Given the description of an element on the screen output the (x, y) to click on. 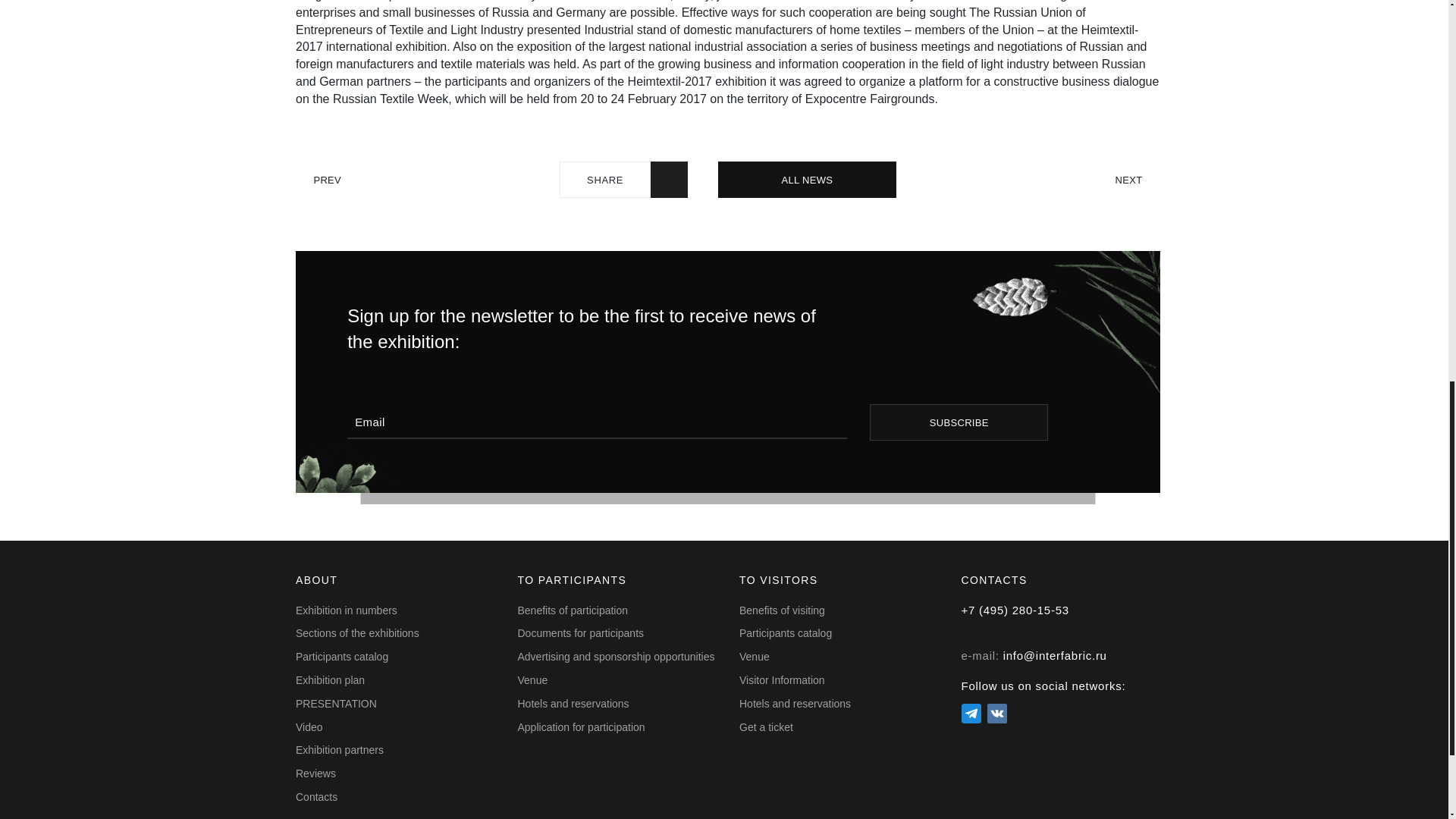
PREV (317, 180)
Vk (997, 713)
Telegram (970, 713)
Enter your e-mail (597, 421)
